Given the description of an element on the screen output the (x, y) to click on. 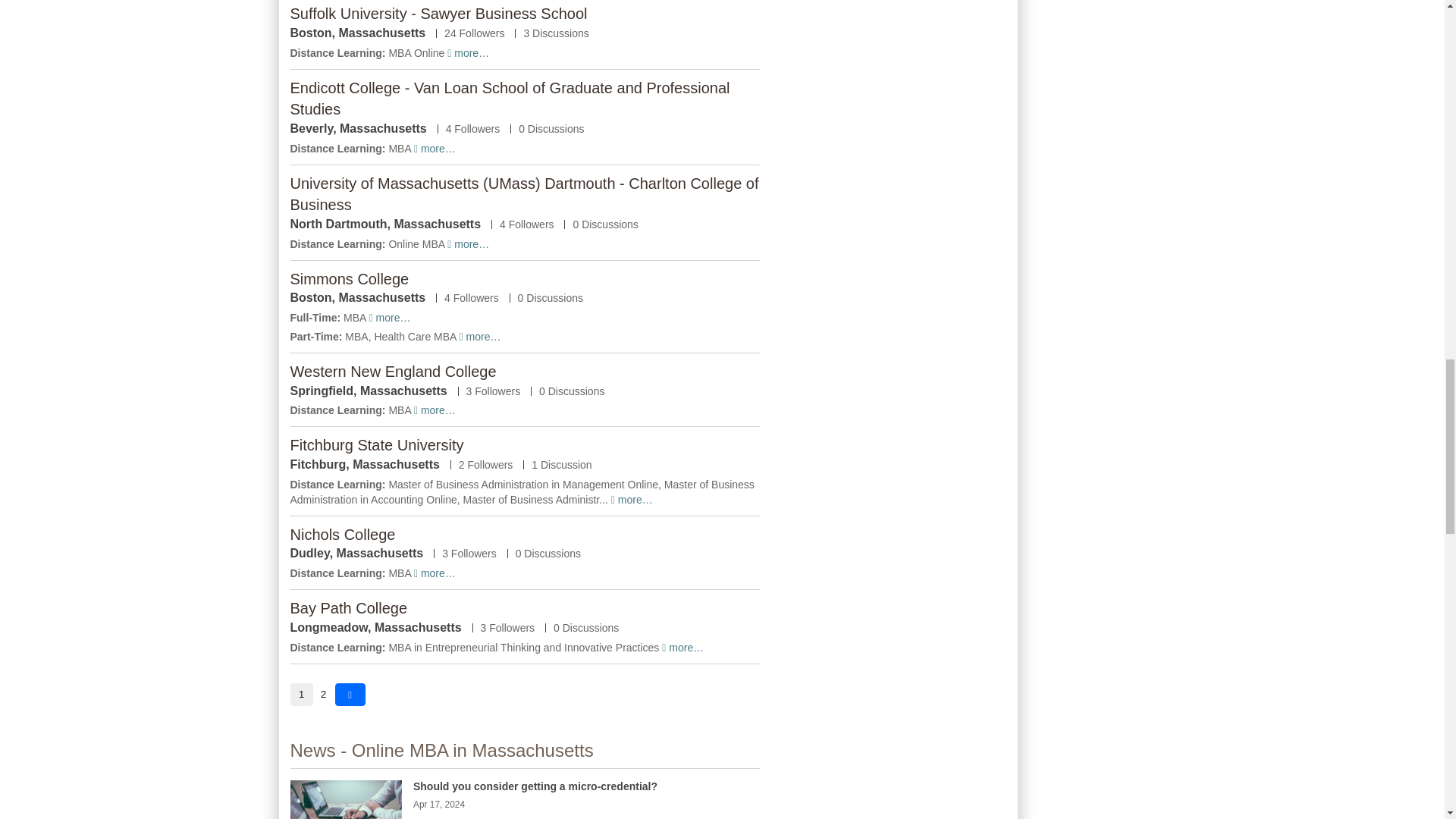
Bay Path College (348, 607)
Fitchburg State University (376, 444)
Nichols College (341, 534)
Suffolk University - Sawyer Business School (437, 13)
Western New England College (392, 371)
Simmons College (349, 279)
